Given the description of an element on the screen output the (x, y) to click on. 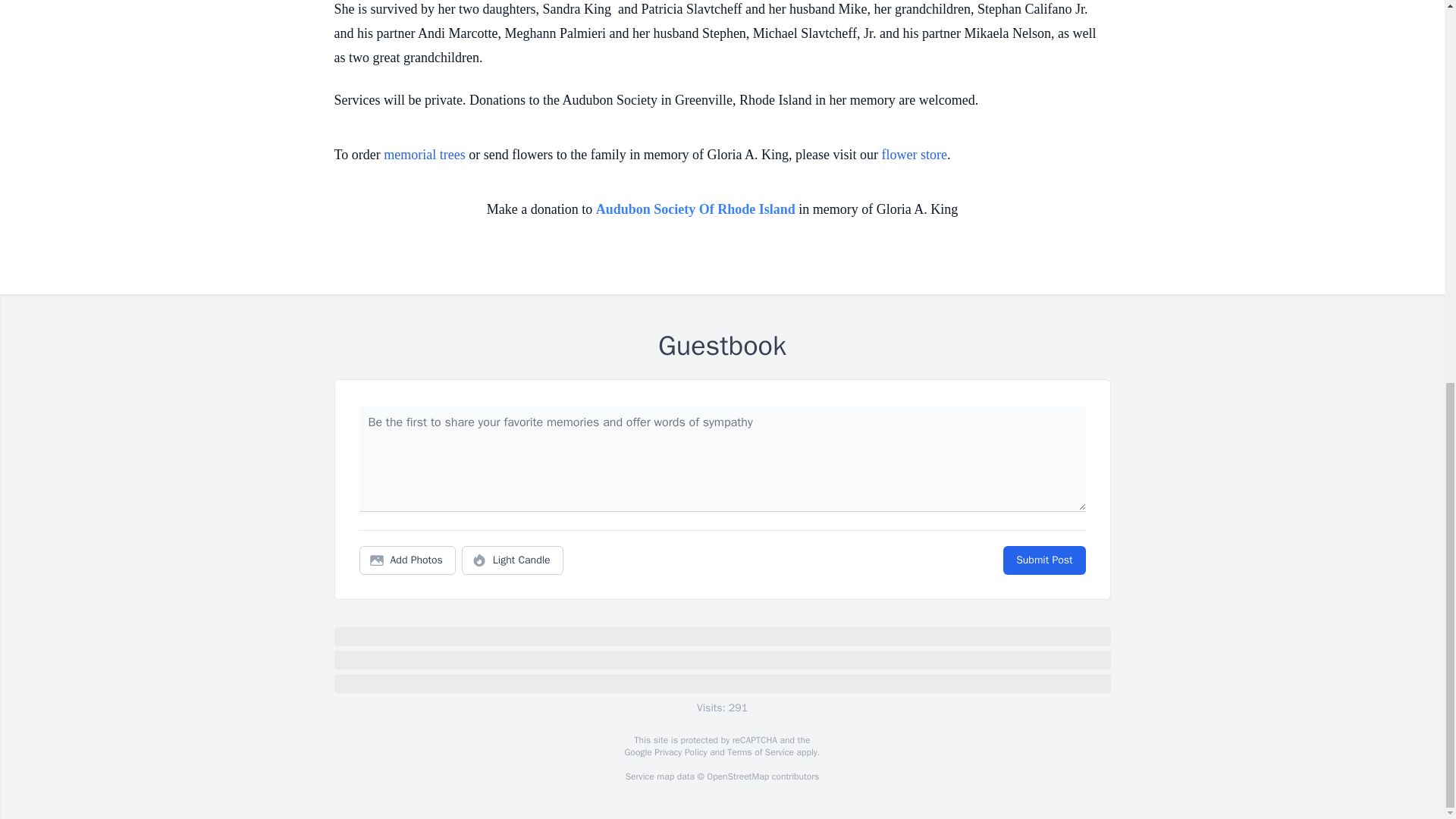
flower store (914, 154)
OpenStreetMap (737, 776)
Privacy Policy (679, 752)
Terms of Service (759, 752)
memorial trees (424, 154)
Submit Post (1043, 560)
Add Photos (407, 560)
Light Candle (512, 560)
